Given the description of an element on the screen output the (x, y) to click on. 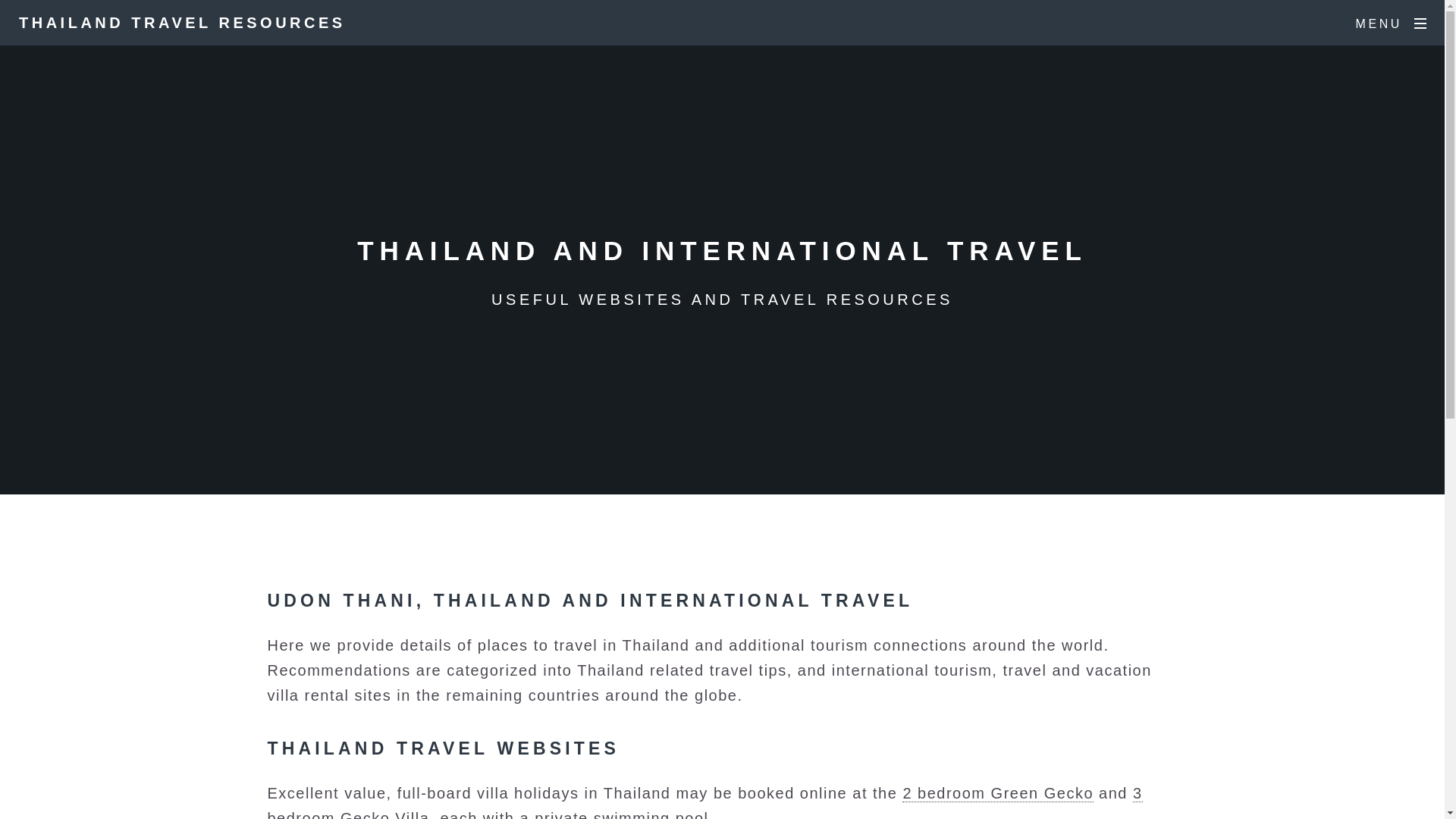
THAILAND TRAVEL RESOURCES (182, 22)
3 bedroom Gecko Villa (703, 801)
2 bedroom Green Gecko (997, 793)
